Given the description of an element on the screen output the (x, y) to click on. 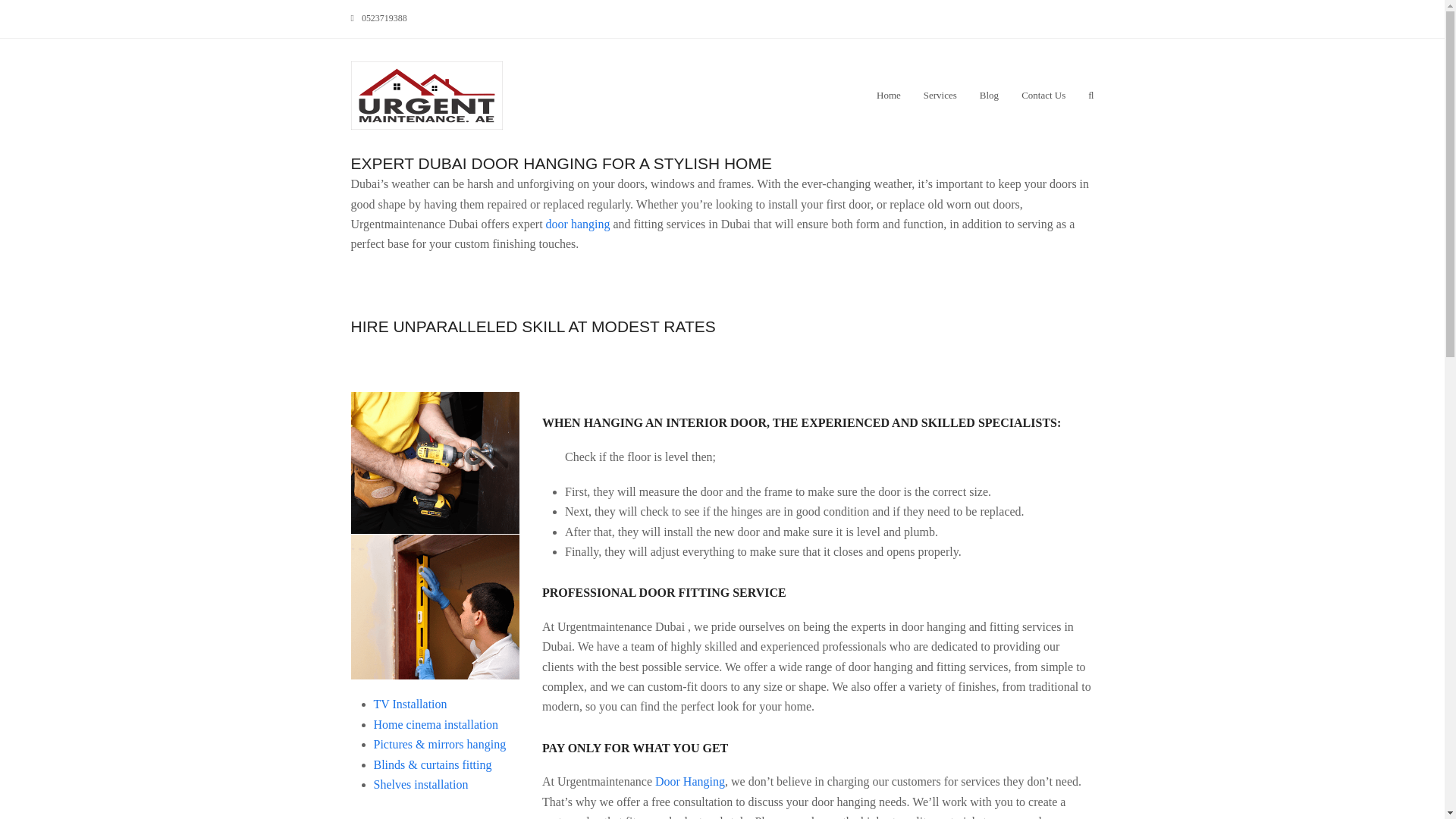
Services (940, 95)
door hanging (578, 223)
Door Hanging (690, 780)
Blog (989, 95)
Home cinema installation (434, 724)
Shelves installation (419, 784)
Home (888, 95)
TV Installation (409, 703)
Contact Us (1043, 95)
